Given the description of an element on the screen output the (x, y) to click on. 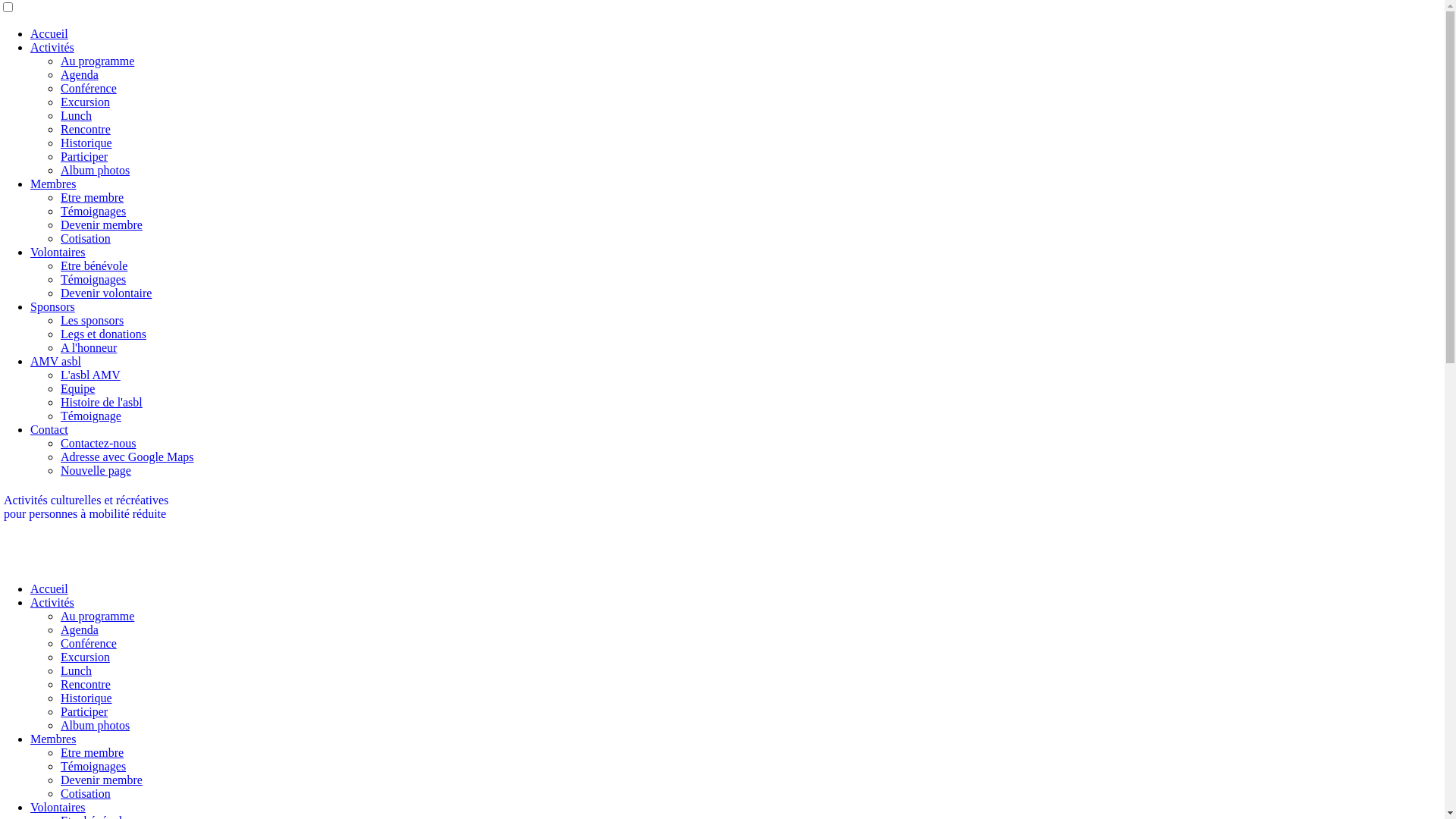
Devenir volontaire Element type: text (105, 292)
Agenda Element type: text (79, 74)
Devenir membre Element type: text (101, 224)
Contact Element type: text (49, 429)
Accueil Element type: text (49, 33)
Participer Element type: text (83, 711)
Rencontre Element type: text (85, 128)
Au programme Element type: text (97, 615)
AMV asbl Element type: text (55, 360)
Legs et donations Element type: text (103, 333)
Adresse avec Google Maps Element type: text (127, 456)
Album photos Element type: text (94, 724)
Au programme Element type: text (97, 60)
Cotisation Element type: text (85, 793)
L'asbl AMV Element type: text (90, 374)
Agenda Element type: text (79, 629)
Album photos Element type: text (94, 169)
Historique Element type: text (86, 697)
Rencontre Element type: text (85, 683)
A l'honneur Element type: text (88, 347)
Participer Element type: text (83, 156)
Volontaires Element type: text (57, 806)
Nouvelle page Element type: text (95, 470)
Les sponsors Element type: text (91, 319)
Excursion Element type: text (84, 656)
Etre membre Element type: text (91, 197)
Sponsors Element type: text (52, 306)
Membres Element type: text (52, 738)
Devenir membre Element type: text (101, 779)
Cotisation Element type: text (85, 238)
Lunch Element type: text (75, 670)
Excursion Element type: text (84, 101)
Contactez-nous Element type: text (98, 442)
Etre membre Element type: text (91, 752)
Histoire de l'asbl Element type: text (101, 401)
Volontaires Element type: text (57, 251)
Membres Element type: text (52, 183)
Accueil Element type: text (49, 588)
Equipe Element type: text (77, 388)
Lunch Element type: text (75, 115)
Historique Element type: text (86, 142)
